Given the description of an element on the screen output the (x, y) to click on. 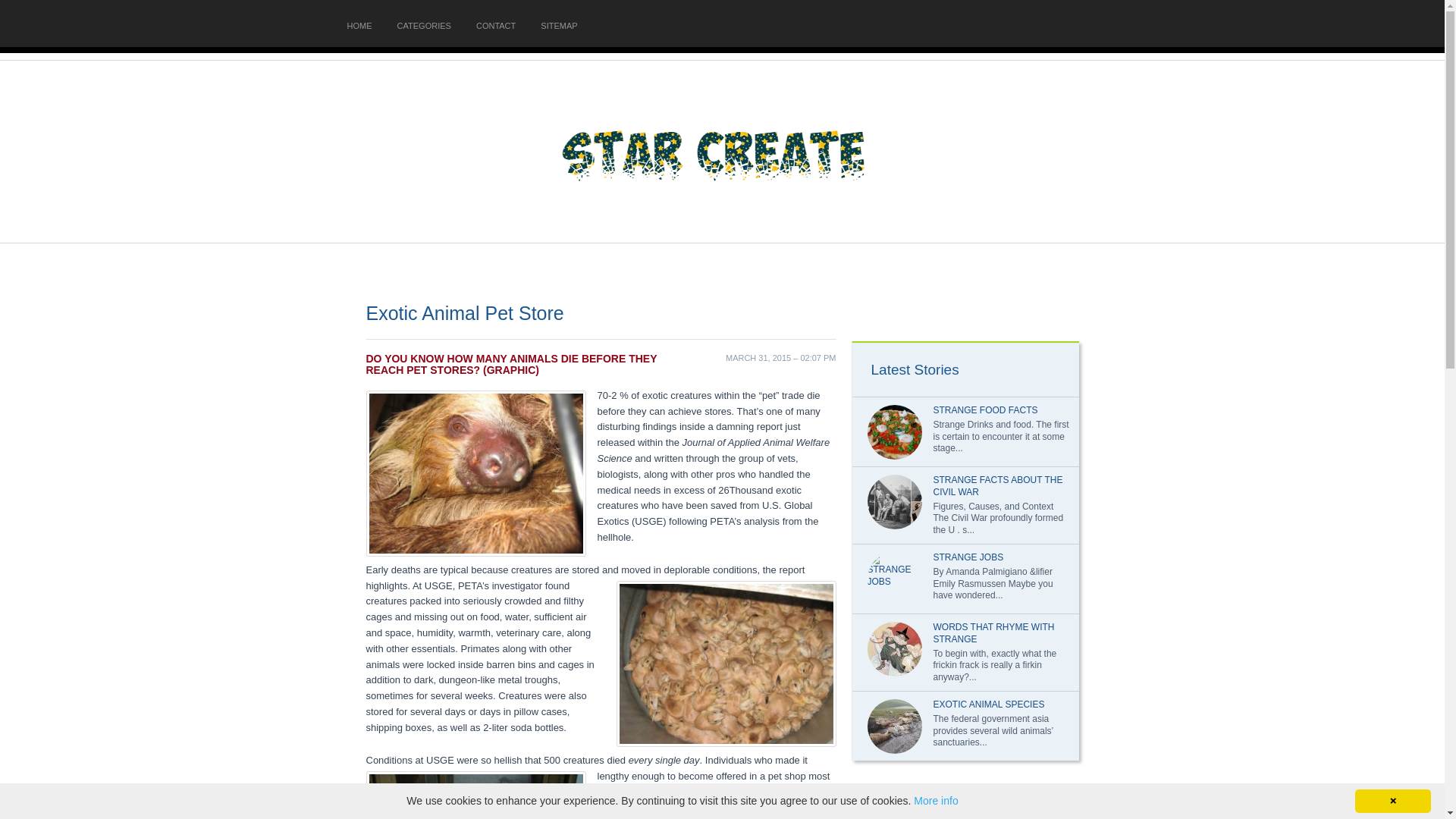
WORDS THAT RHYME WITH STRANGE (993, 632)
SITEMAP (558, 26)
EXOTIC ANIMAL SPECIES (988, 704)
STRANGE JOBS (968, 557)
STRANGE FOOD FACTS (984, 409)
CATEGORIES (424, 26)
STRANGE FACTS ABOUT THE CIVIL WAR (997, 486)
HOME (359, 26)
CONTACT (495, 26)
